Given the description of an element on the screen output the (x, y) to click on. 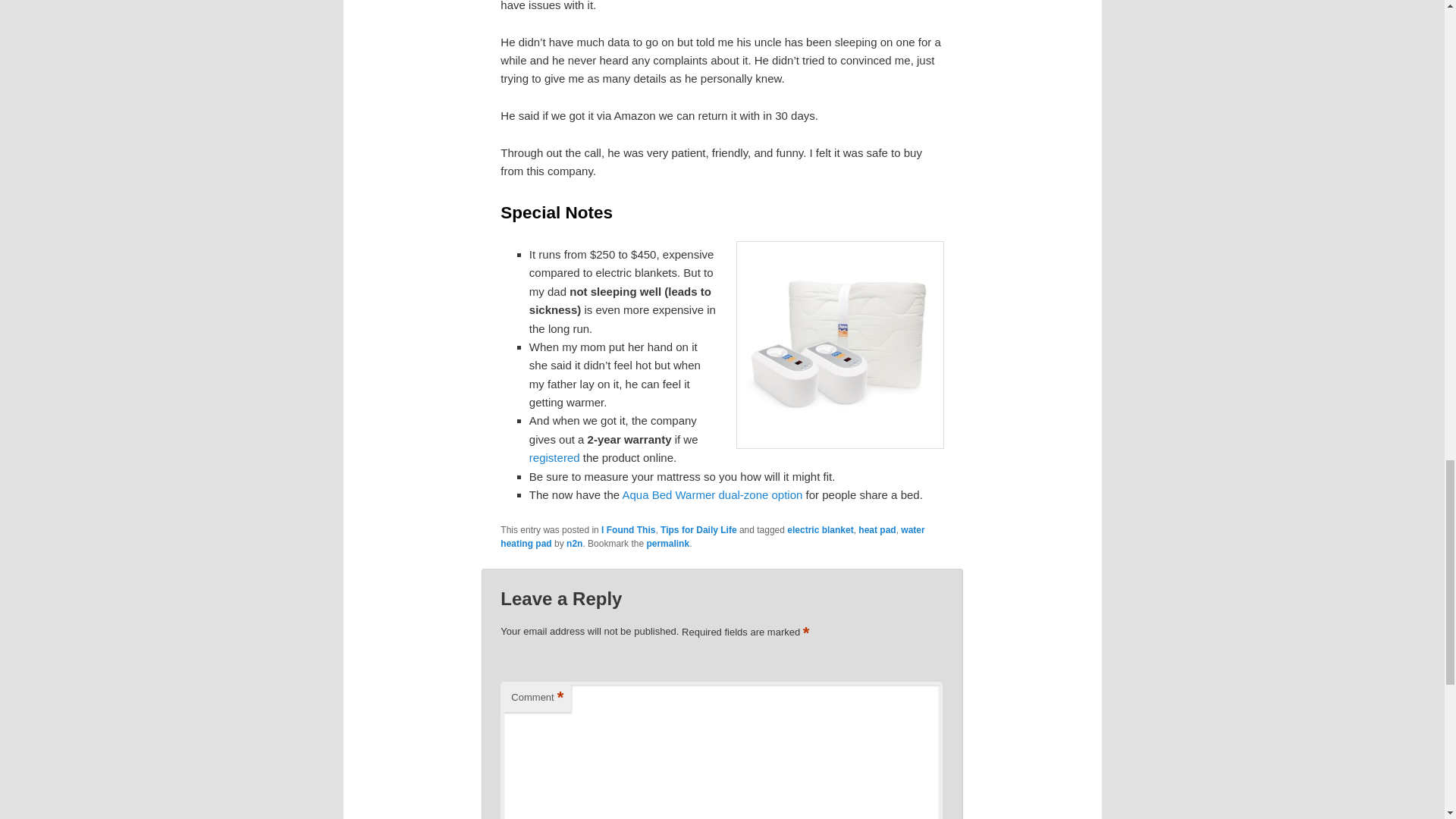
register Aqua Bed Warmer online. (554, 457)
Tips for Daily Life (698, 529)
heat pad (877, 529)
Aqua Bed Warmer dual-zone option (711, 494)
Permalink to Better, Safer Than The Electric Blanket (667, 543)
electric blanket (820, 529)
n2n (574, 543)
registered (554, 457)
water heating pad (712, 536)
permalink (667, 543)
I Found This (628, 529)
